Given the description of an element on the screen output the (x, y) to click on. 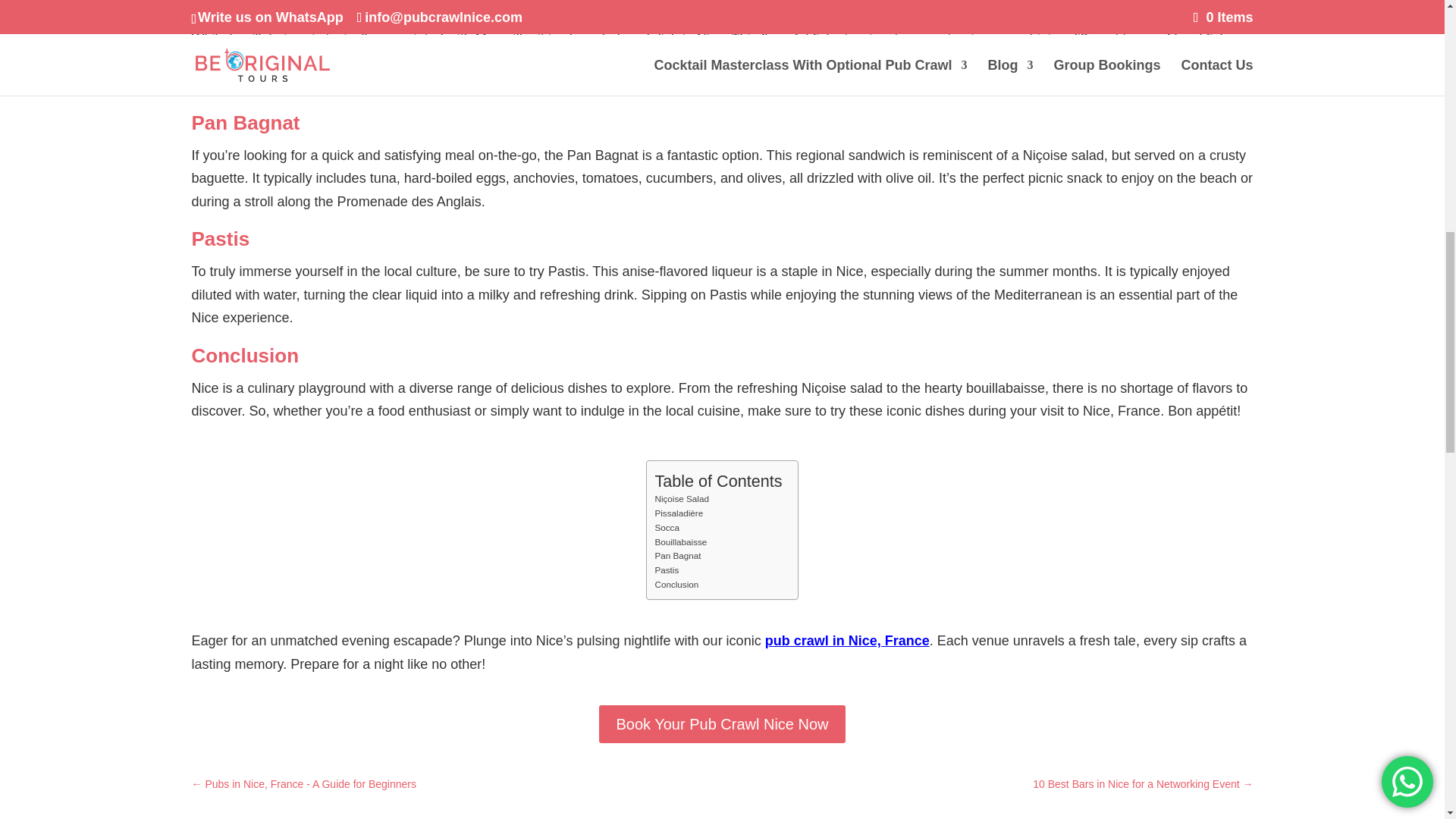
pub crawl in Nice, France (847, 640)
Socca (665, 527)
Pastis (665, 570)
Socca (665, 527)
Bouillabaisse (679, 542)
Conclusion (675, 585)
Bouillabaisse (679, 542)
Pan Bagnat (676, 555)
Conclusion (675, 585)
Pastis (665, 570)
Pan Bagnat (676, 555)
Book Your Pub Crawl Nice Now (721, 723)
